Given the description of an element on the screen output the (x, y) to click on. 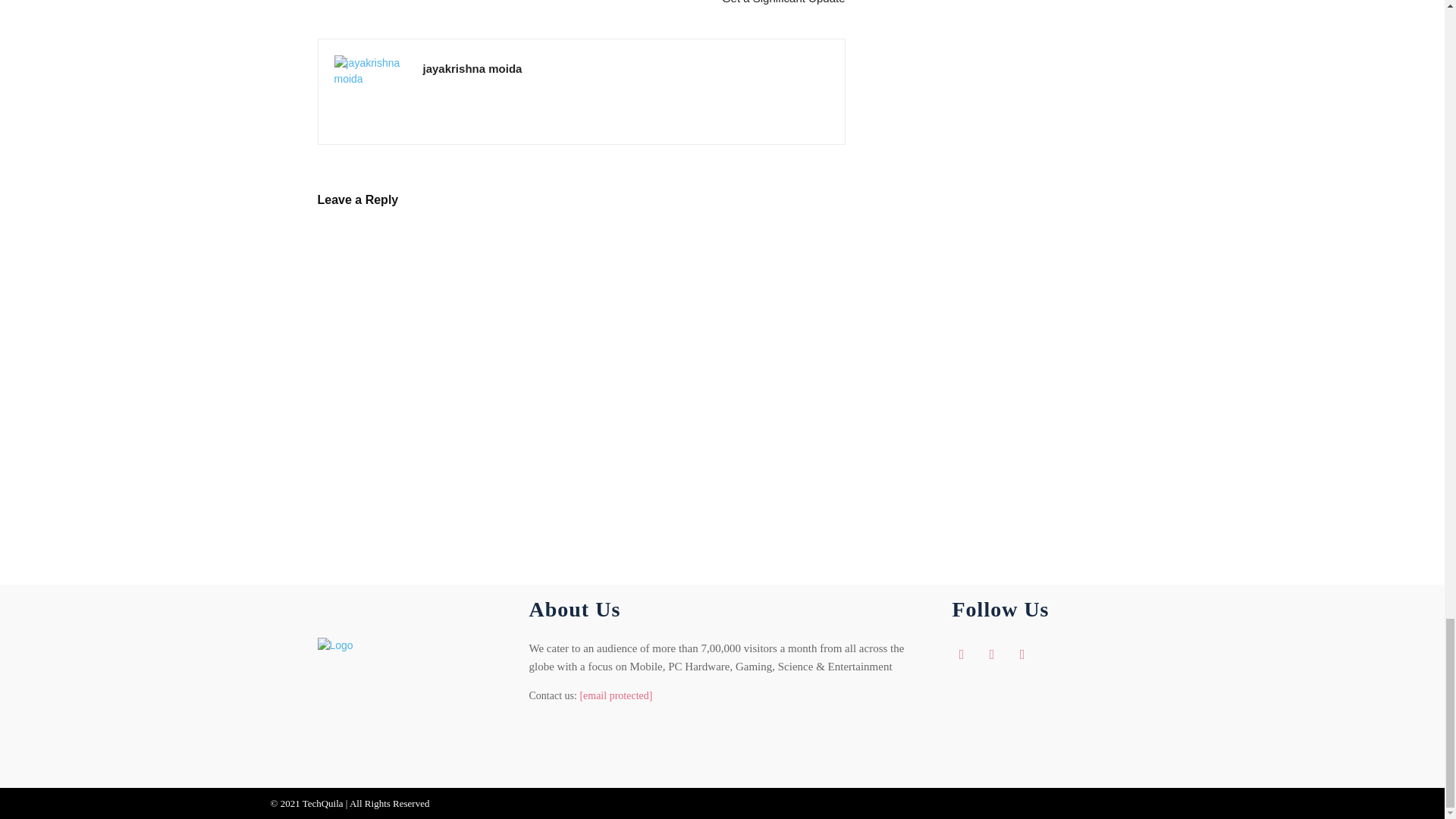
jayakrishna moida (472, 68)
